Given the description of an element on the screen output the (x, y) to click on. 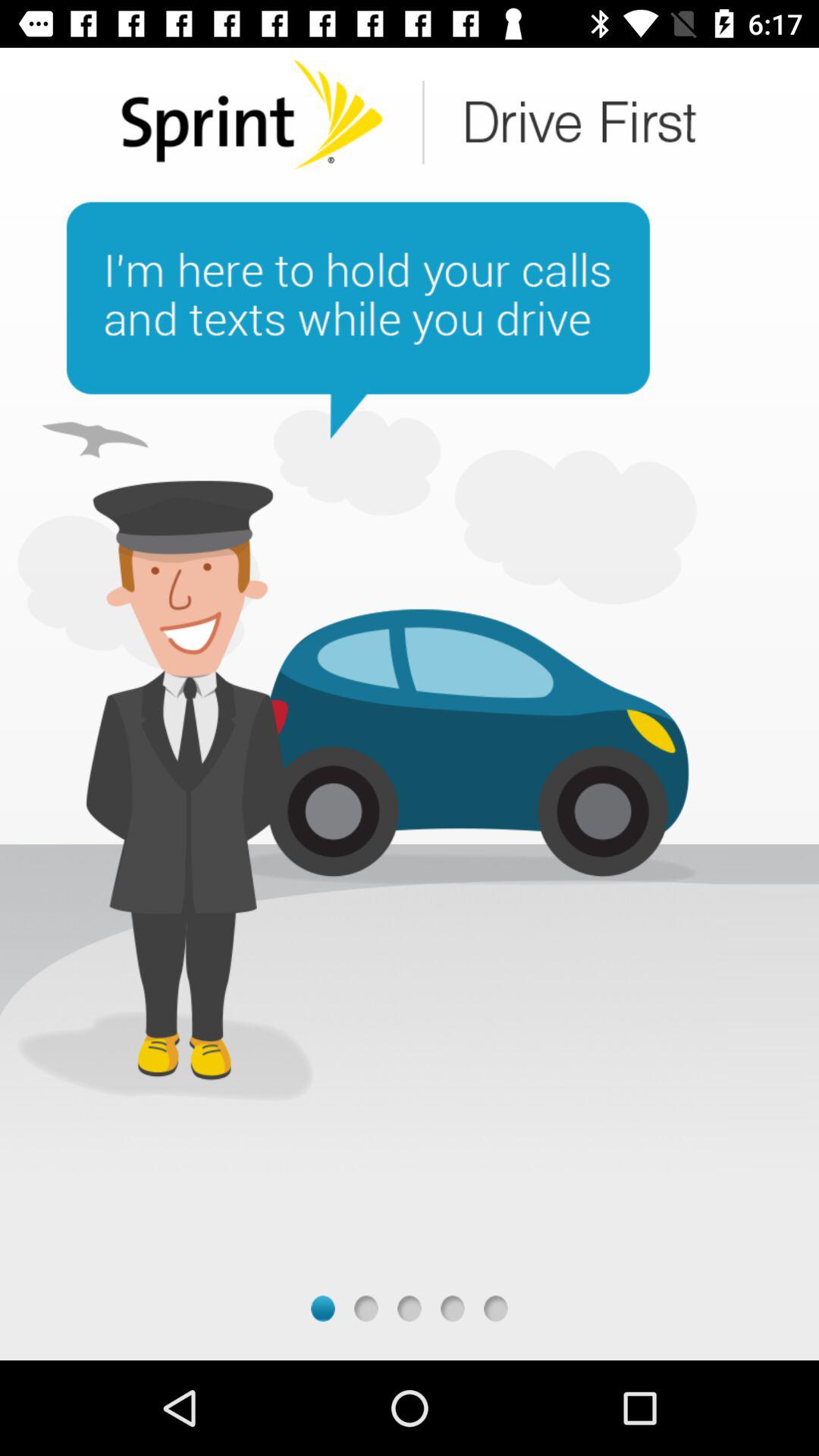
go to first page (322, 1308)
